Given the description of an element on the screen output the (x, y) to click on. 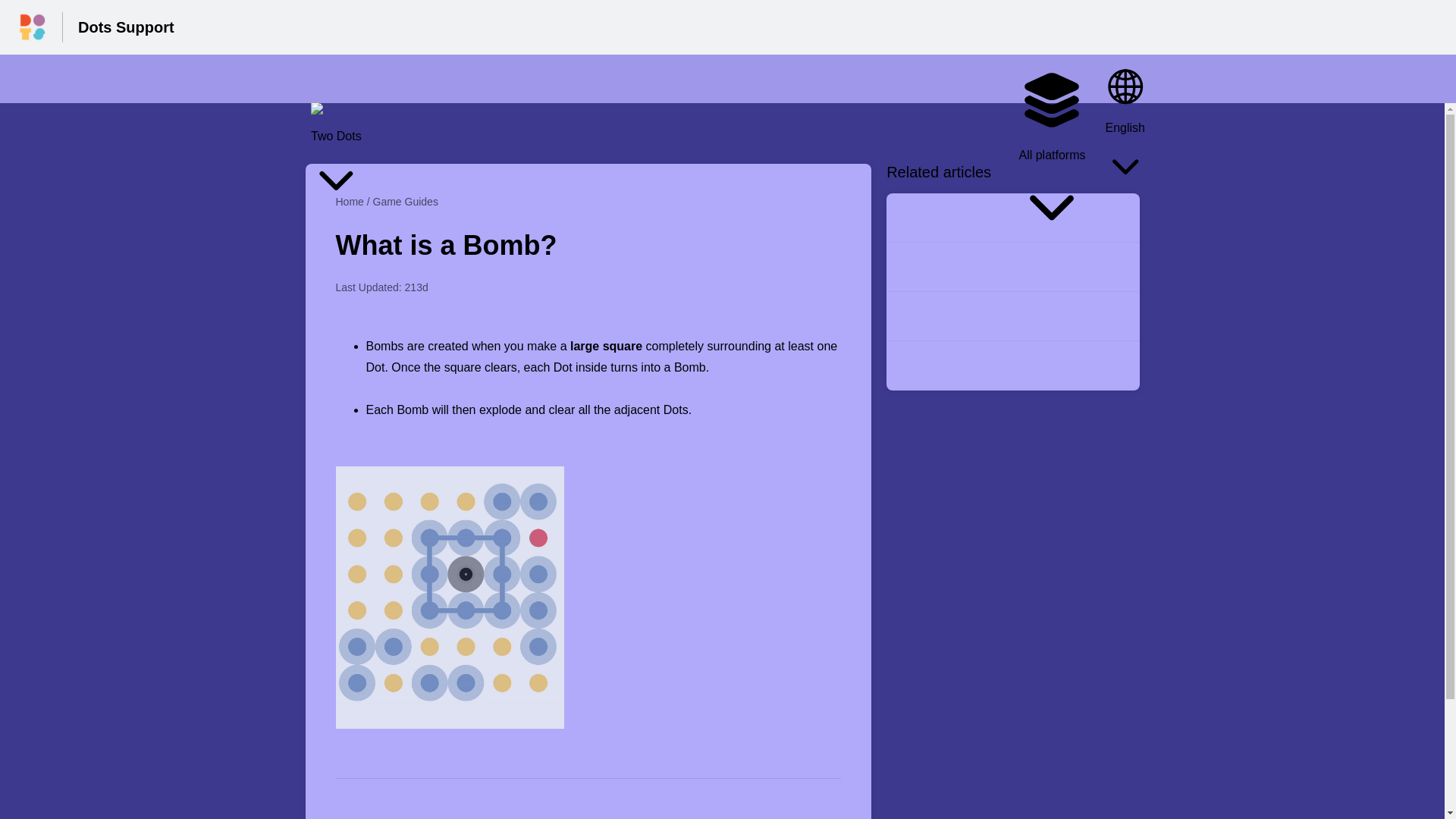
Game Guides (405, 201)
Dots Support (126, 27)
Home (348, 201)
